Given the description of an element on the screen output the (x, y) to click on. 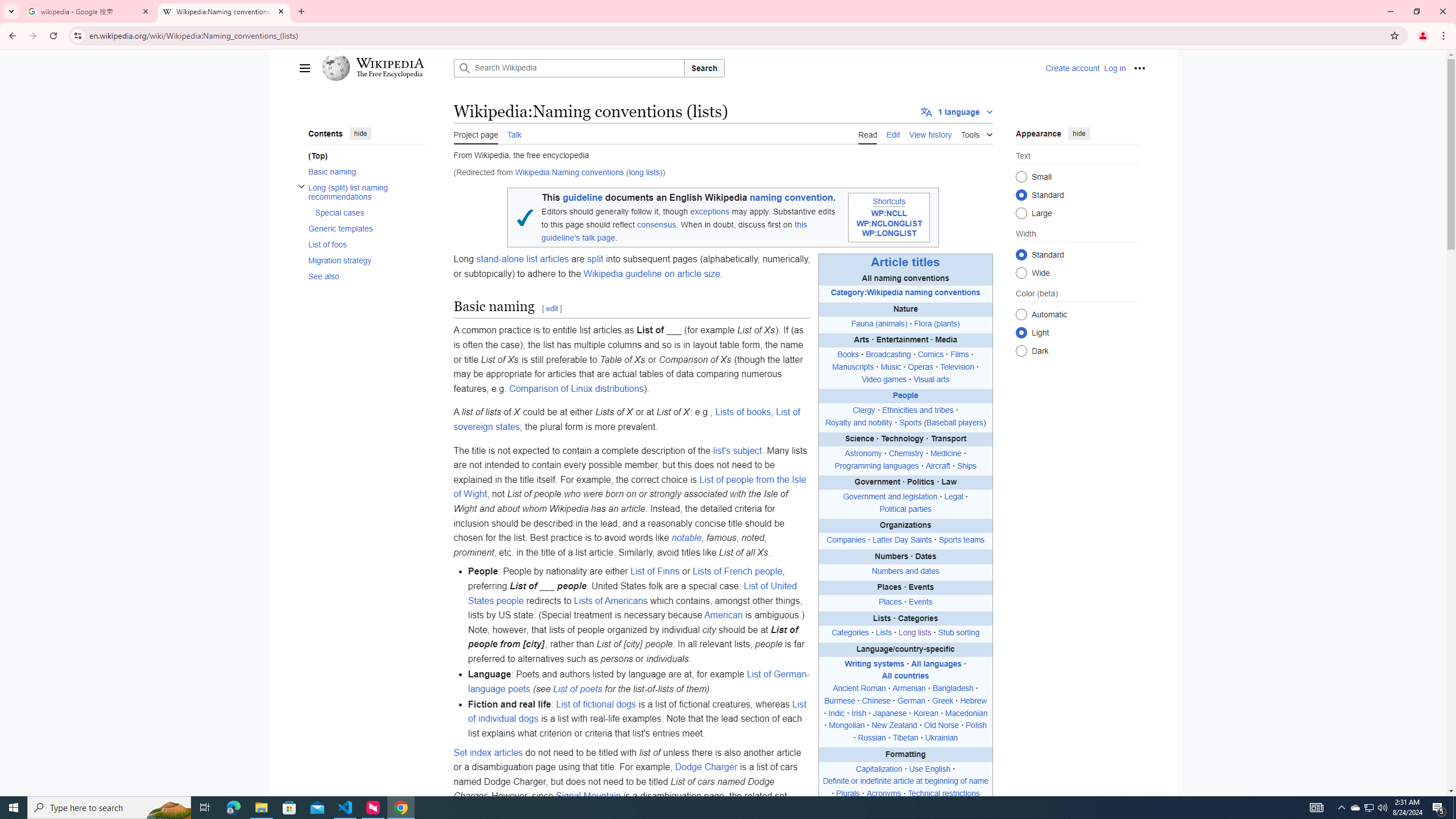
Burmese (840, 700)
Shortcuts (888, 200)
Wikipedia (389, 62)
Lists of French people (737, 571)
Clergy (864, 409)
Basic naming (368, 170)
Use English (929, 768)
Plurals (847, 793)
The Free Encyclopedia (389, 74)
Generic templates (368, 228)
split (594, 258)
Personal tools (1139, 67)
Legal (953, 496)
exceptions (709, 212)
Main menu (304, 67)
